Given the description of an element on the screen output the (x, y) to click on. 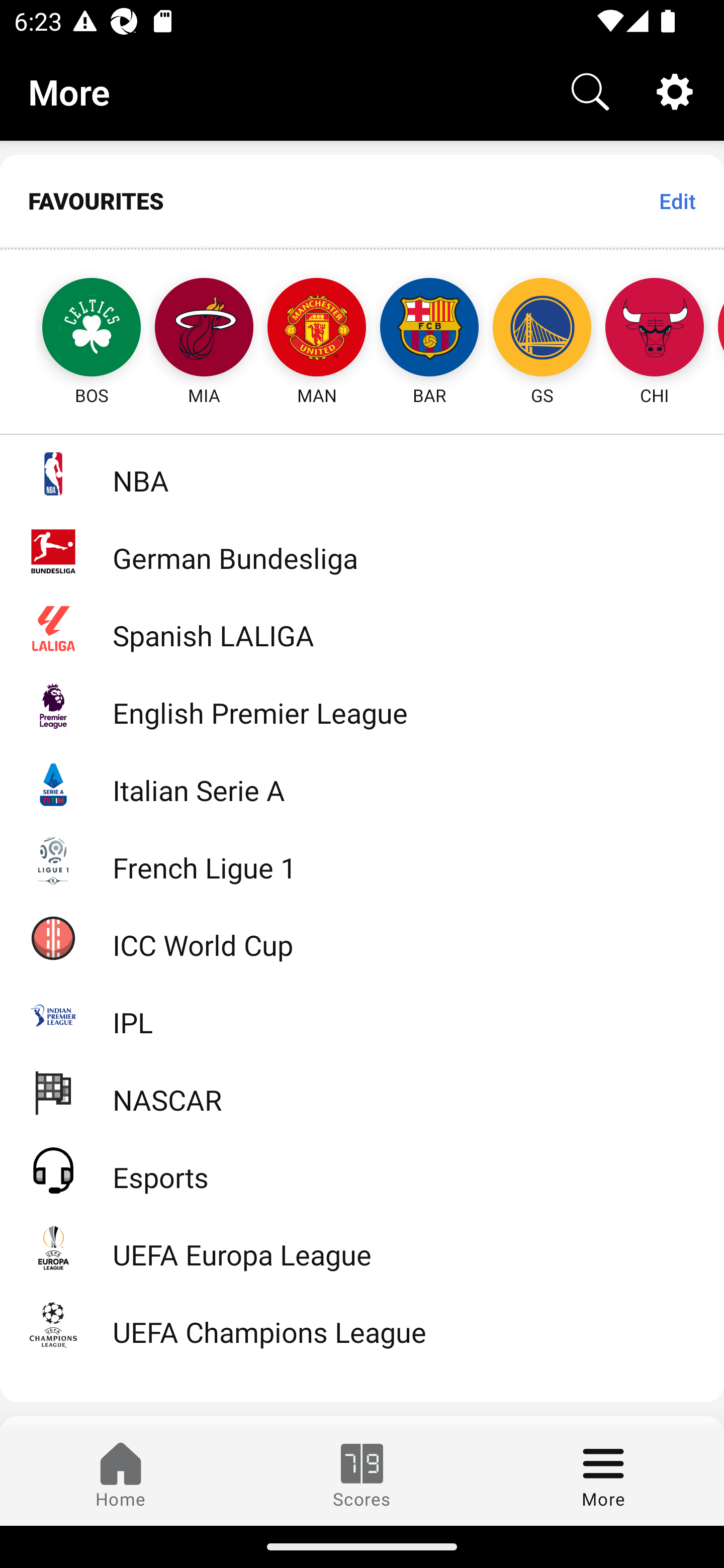
Search (590, 90)
Settings (674, 90)
Edit (676, 200)
BOS Boston Celtics (73, 328)
MIA Miami Heat (203, 328)
MAN Manchester United (316, 328)
BAR Barcelona (428, 328)
GS Golden State Warriors (541, 328)
CHI Chicago Bulls (654, 328)
NBA (362, 473)
German Bundesliga (362, 550)
Spanish LALIGA (362, 627)
English Premier League (362, 705)
Italian Serie A (362, 782)
French Ligue 1 (362, 859)
ICC World Cup (362, 937)
IPL (362, 1014)
NASCAR (362, 1091)
Esports (362, 1169)
UEFA Europa League (362, 1246)
UEFA Champions League (362, 1324)
Home (120, 1475)
Scores (361, 1475)
